Given the description of an element on the screen output the (x, y) to click on. 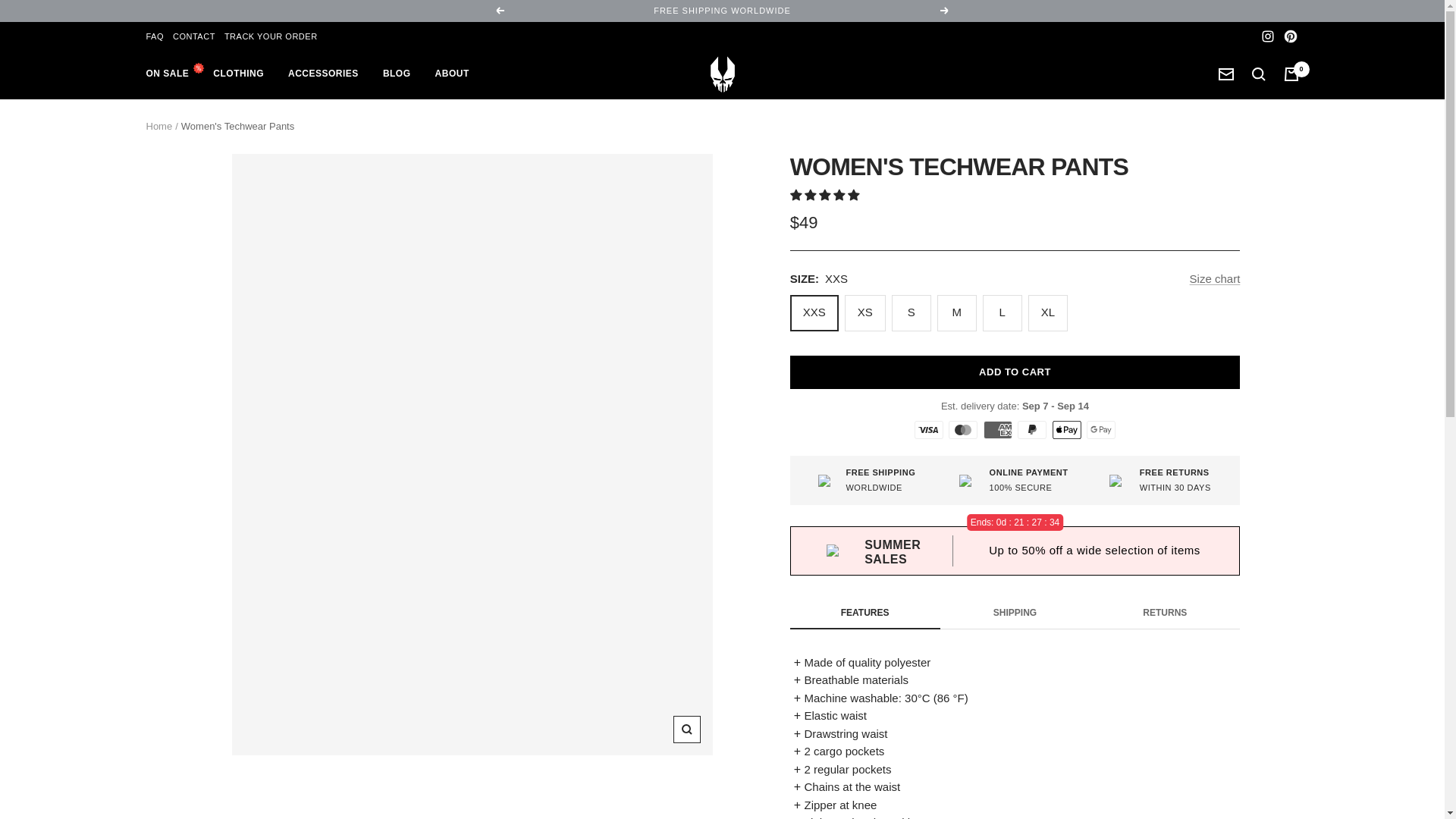
Next (944, 10)
ABOUT (451, 73)
Techwear Division (722, 74)
ON SALE (167, 73)
CONTACT (194, 36)
BLOG (396, 73)
